Given the description of an element on the screen output the (x, y) to click on. 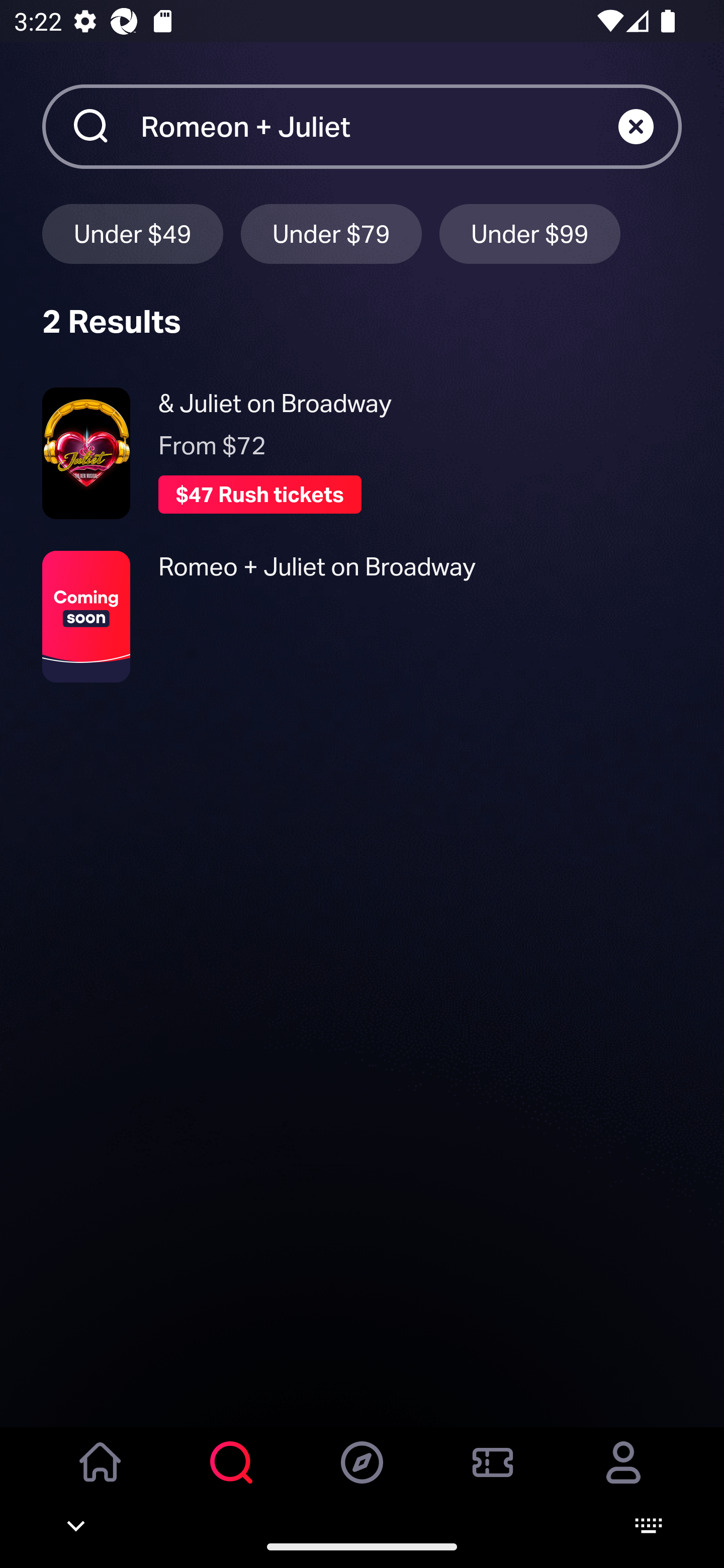
Romeon + Juliet (379, 126)
Under $49 (131, 233)
Under $79 (331, 233)
Under $99 (529, 233)
Home (100, 1475)
Discover (361, 1475)
Orders (492, 1475)
Account (623, 1475)
